Given the description of an element on the screen output the (x, y) to click on. 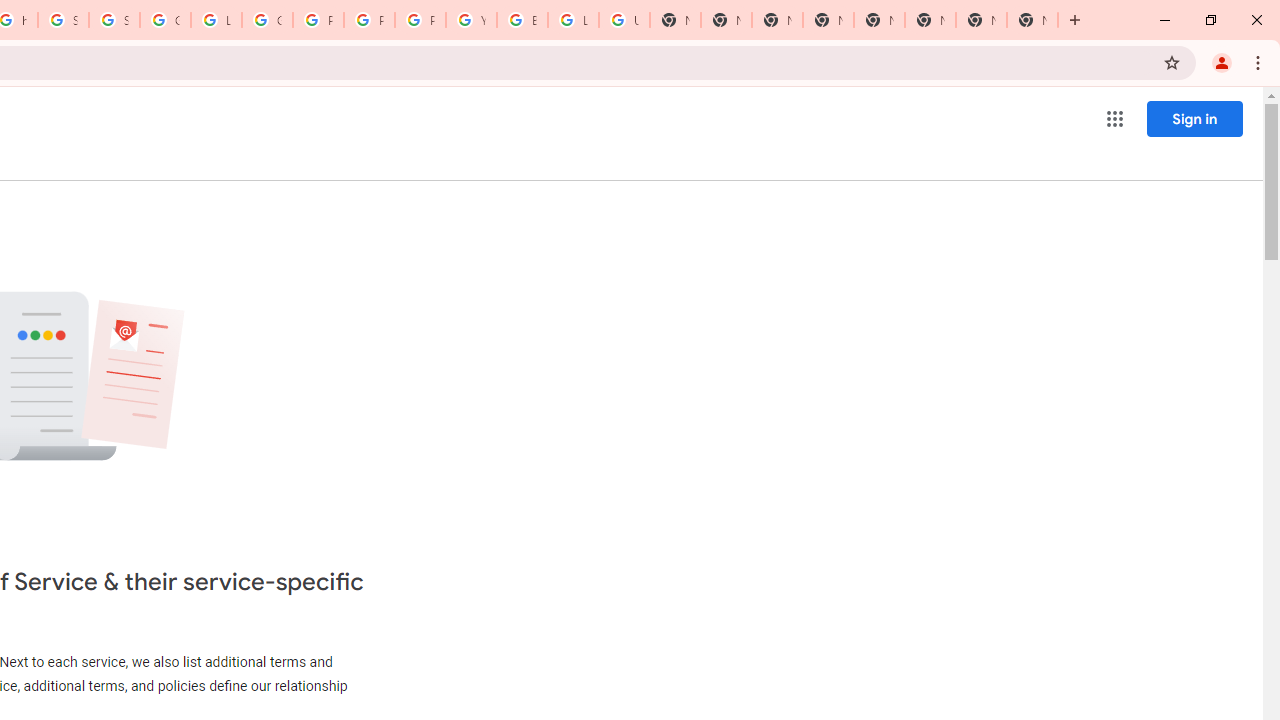
Privacy Help Center - Policies Help (318, 20)
New Tab (930, 20)
New Tab (776, 20)
New Tab (878, 20)
